Given the description of an element on the screen output the (x, y) to click on. 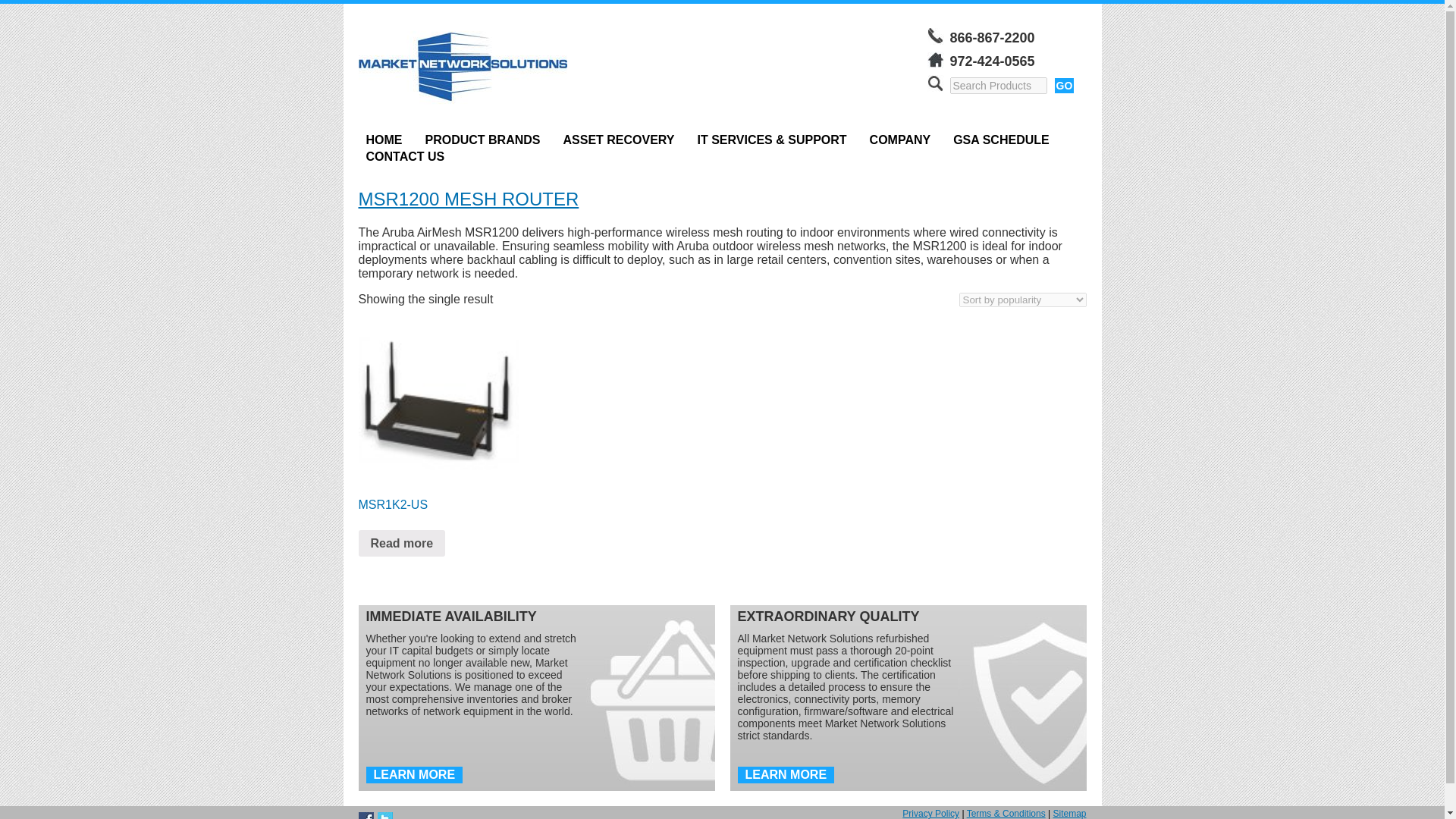
HOME (383, 140)
PRODUCT BRANDS (481, 140)
Search Products (997, 85)
GO (1064, 84)
GO (1064, 84)
